Given the description of an element on the screen output the (x, y) to click on. 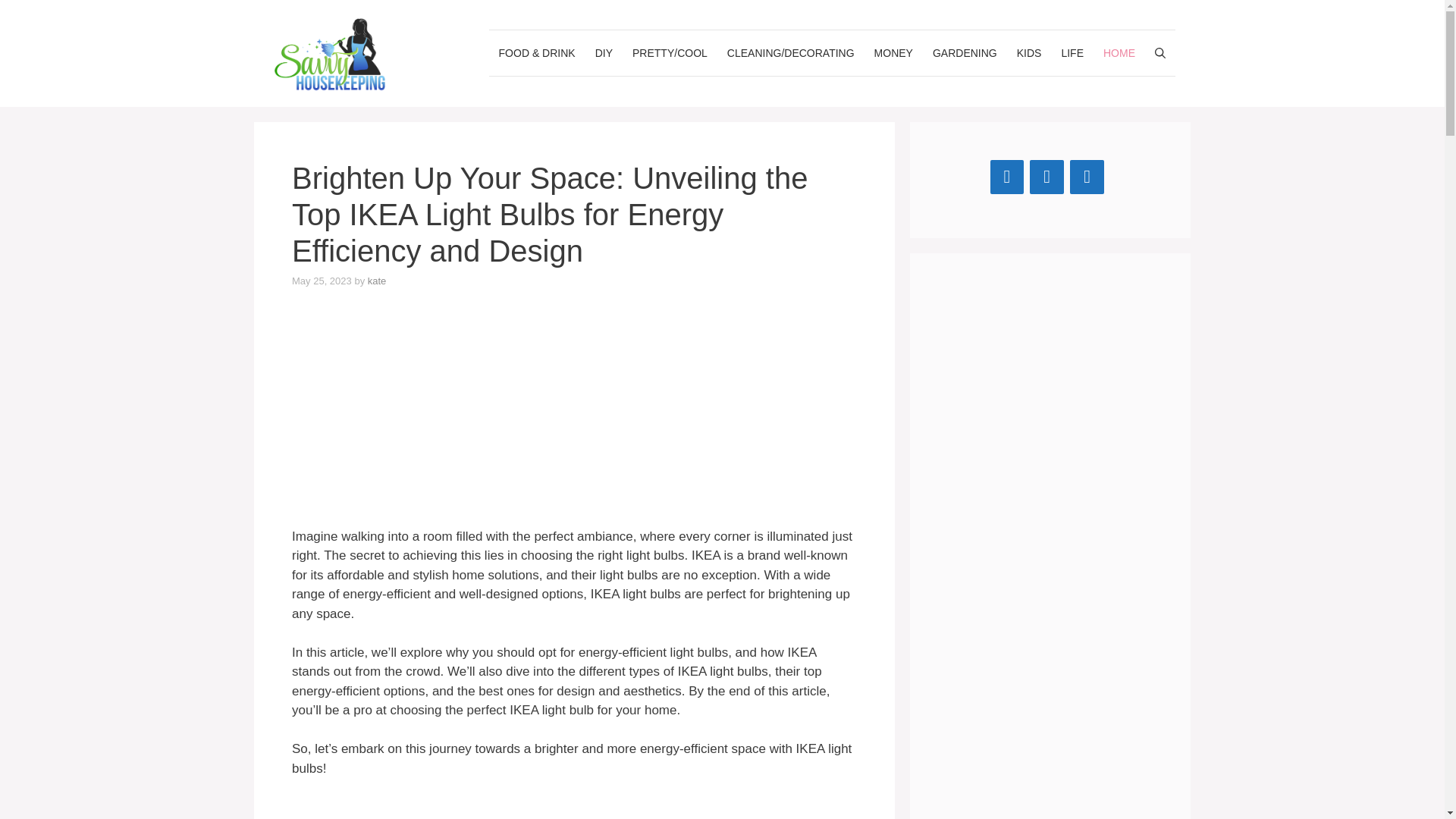
Advertisement (574, 420)
View all posts by kate (377, 280)
kate (377, 280)
MONEY (893, 53)
HOME (1118, 53)
KIDS (1029, 53)
LIFE (1072, 53)
GARDENING (965, 53)
Advertisement (574, 808)
